Given the description of an element on the screen output the (x, y) to click on. 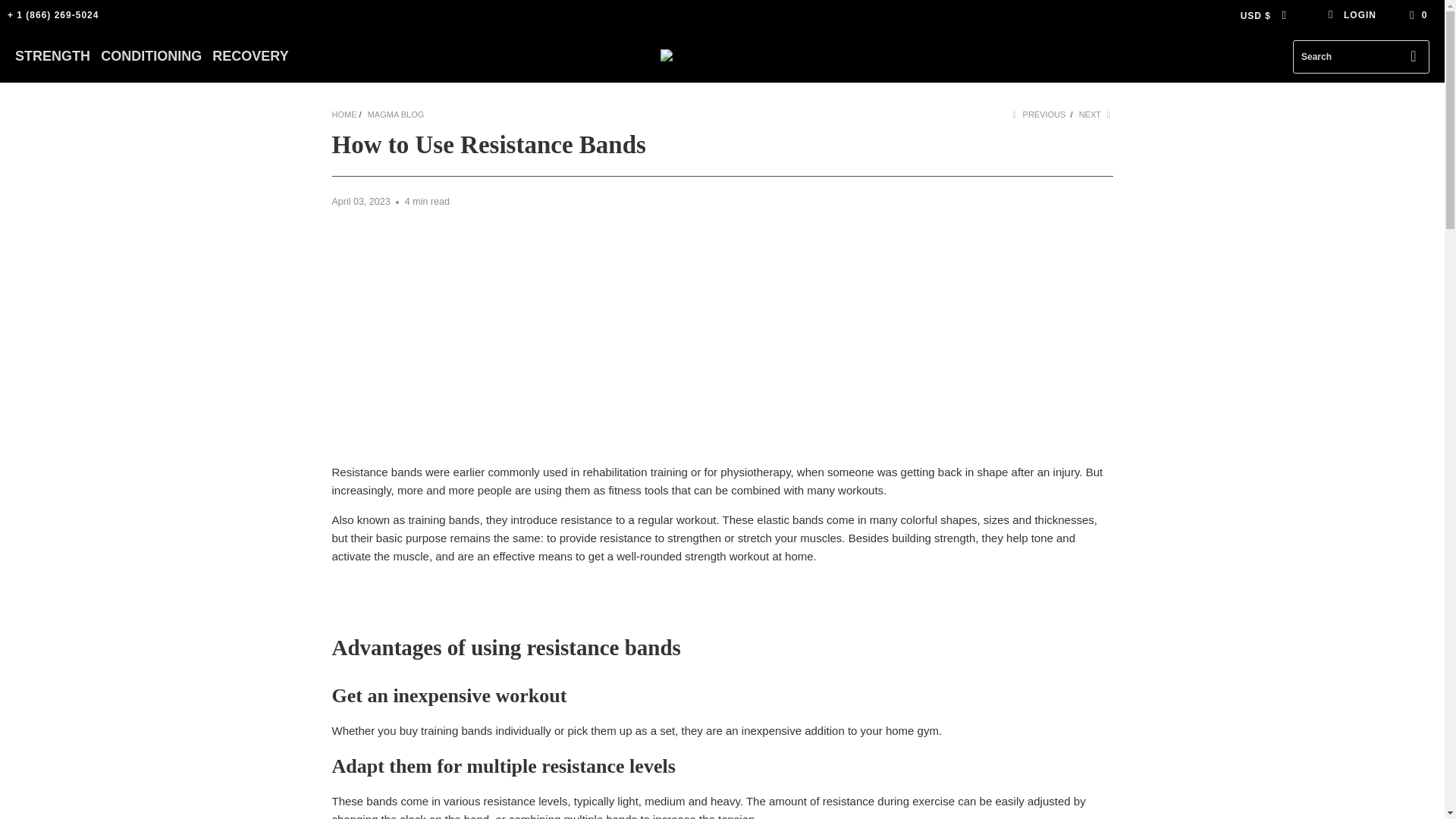
MAGMA Blog (396, 113)
LOGIN (1351, 15)
STRENGTH (52, 56)
My Account  (1351, 15)
MAGMA Fitness (343, 113)
CONDITIONING (151, 56)
MAGMA Fitness (727, 55)
RECOVERY (250, 56)
